Given the description of an element on the screen output the (x, y) to click on. 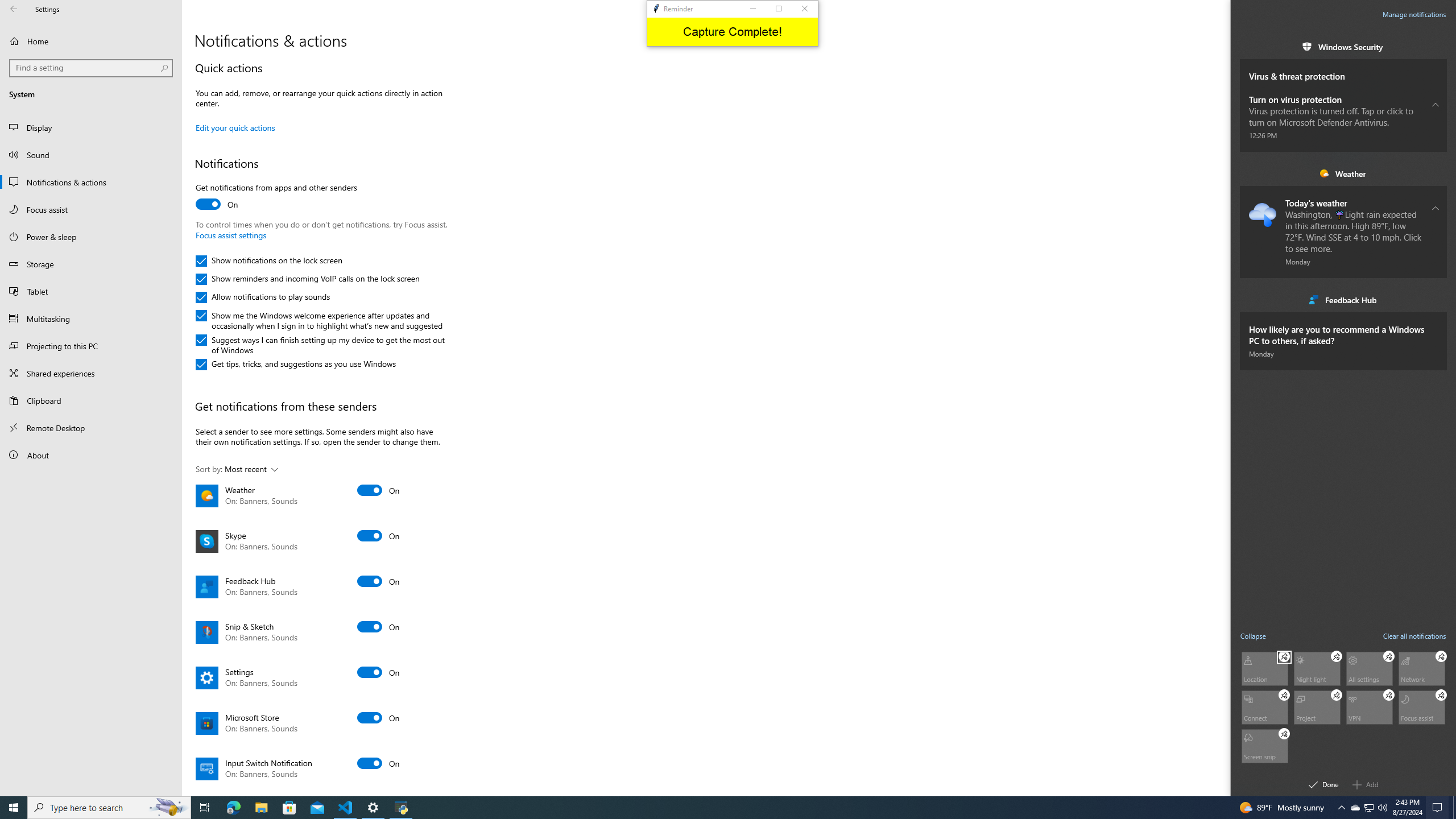
Collapse this notification (1435, 207)
Settings - 1 running window (373, 807)
VPN (1368, 706)
Notification Chevron (1341, 807)
Clear all notifications for Windows Security (1435, 46)
Done editing quick actions (1324, 784)
Microsoft Edge (233, 807)
All settings Unpin (1388, 655)
